Given the description of an element on the screen output the (x, y) to click on. 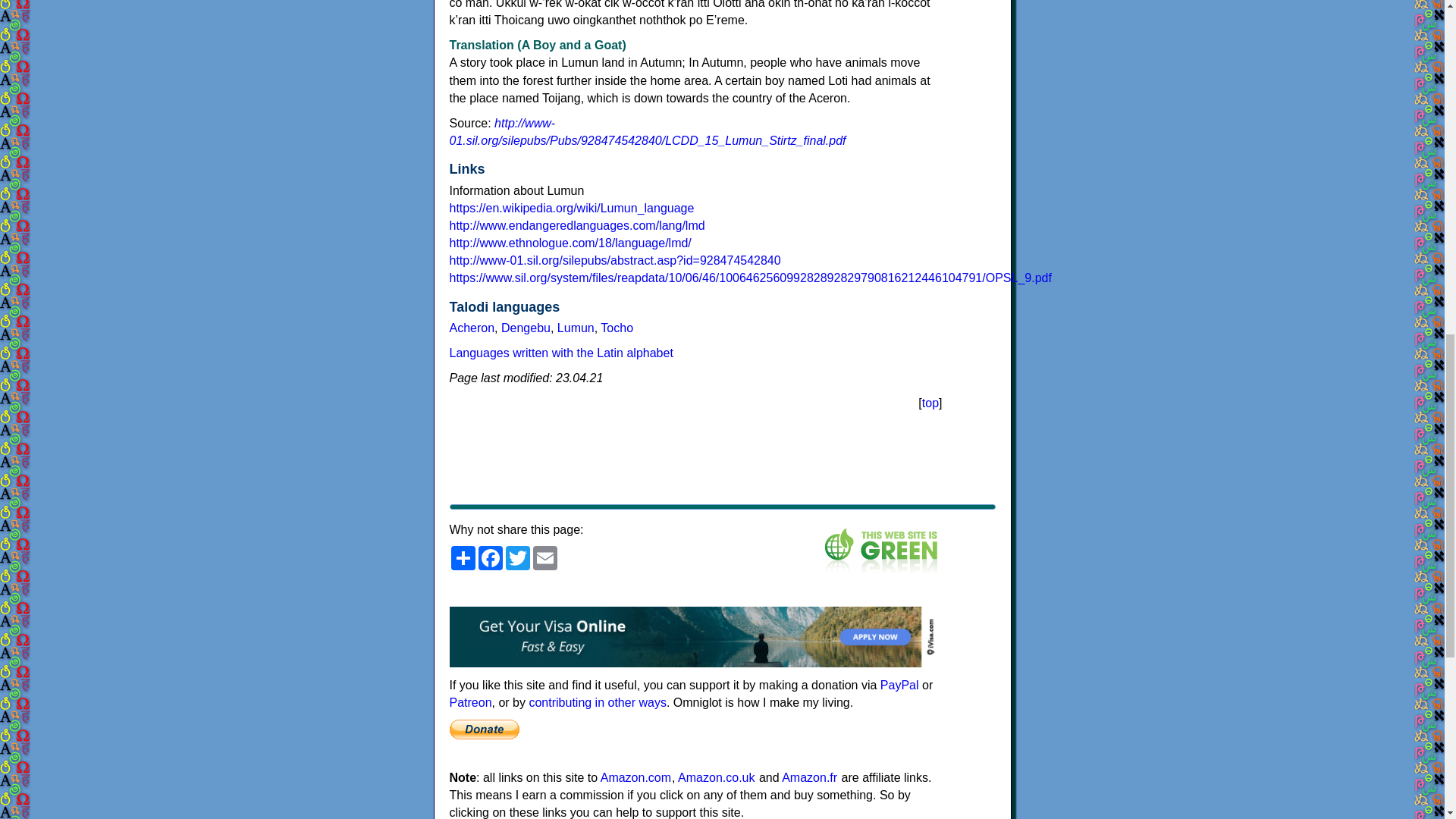
Patreon (470, 702)
Lumun (575, 327)
Amazon.com (635, 777)
PayPal - The safer, easier way to pay online! (483, 728)
Dengebu (525, 327)
Twitter (517, 558)
Amazon.fr (809, 777)
top (930, 402)
Tocho (616, 327)
Dagik (525, 327)
